Given the description of an element on the screen output the (x, y) to click on. 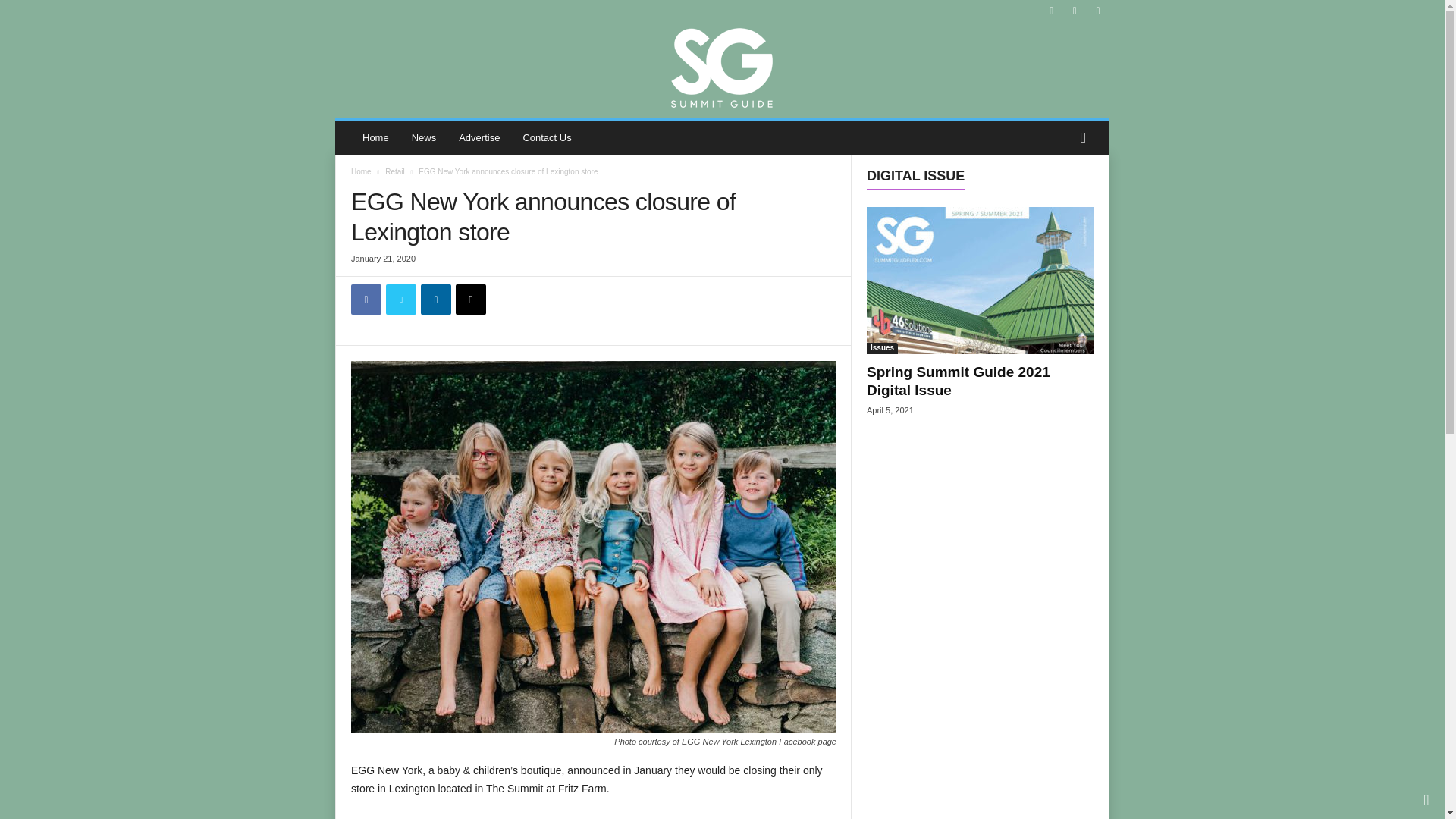
Linkedin (435, 299)
Twitter (400, 299)
Home (360, 171)
Facebook (365, 299)
Email (470, 299)
Retail (394, 171)
Contact Us (546, 137)
News (424, 137)
Advertise (478, 137)
Home (375, 137)
summitguidelex (721, 66)
View all posts in Retail (394, 171)
